Given the description of an element on the screen output the (x, y) to click on. 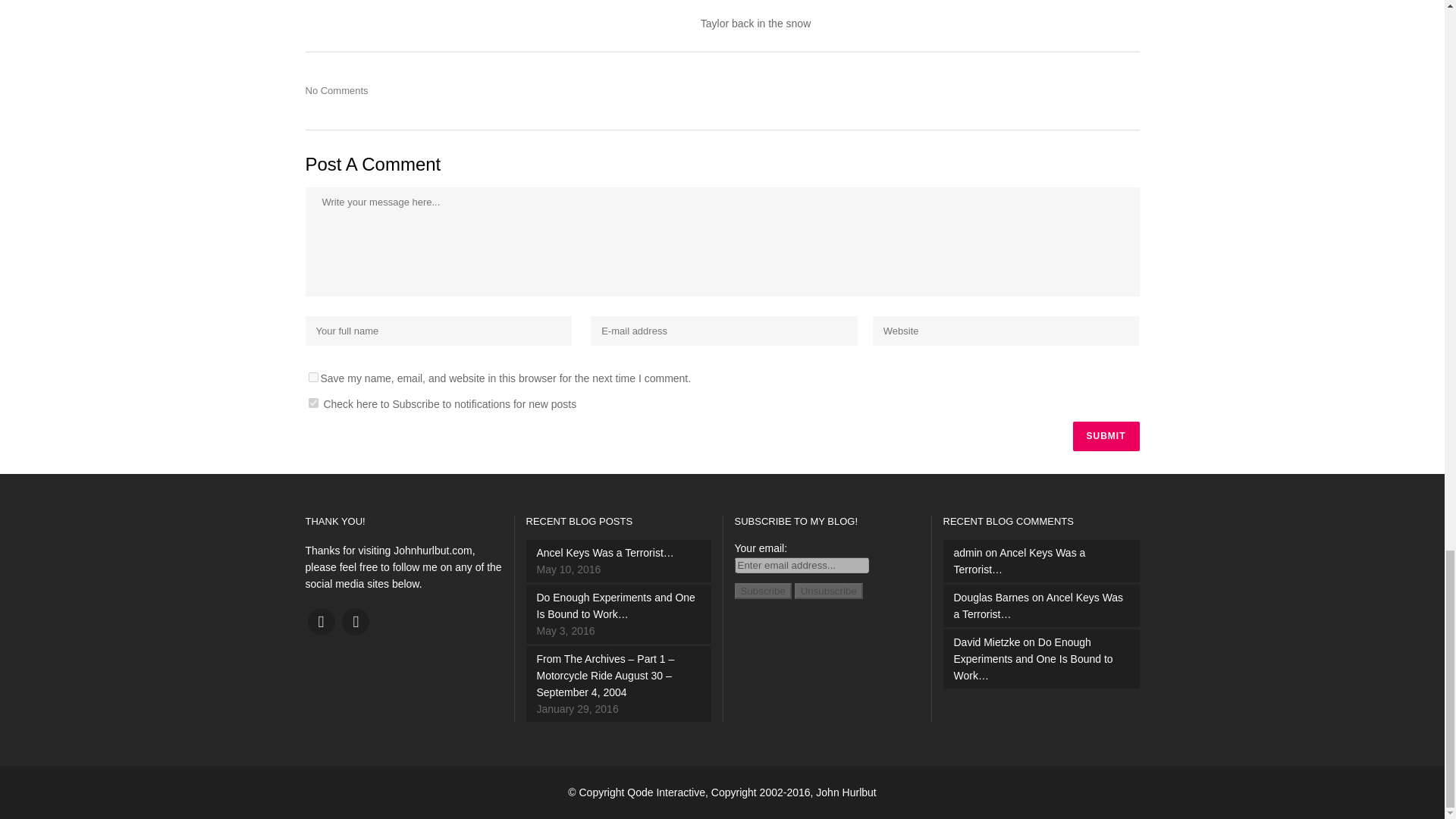
1 (312, 402)
Submit (1104, 436)
yes (312, 377)
David Mietzke (986, 642)
Subscribe (761, 590)
Subscribe (761, 590)
Enter email address... (800, 565)
Submit (1104, 436)
Unsubscribe (828, 590)
Unsubscribe (828, 590)
